Given the description of an element on the screen output the (x, y) to click on. 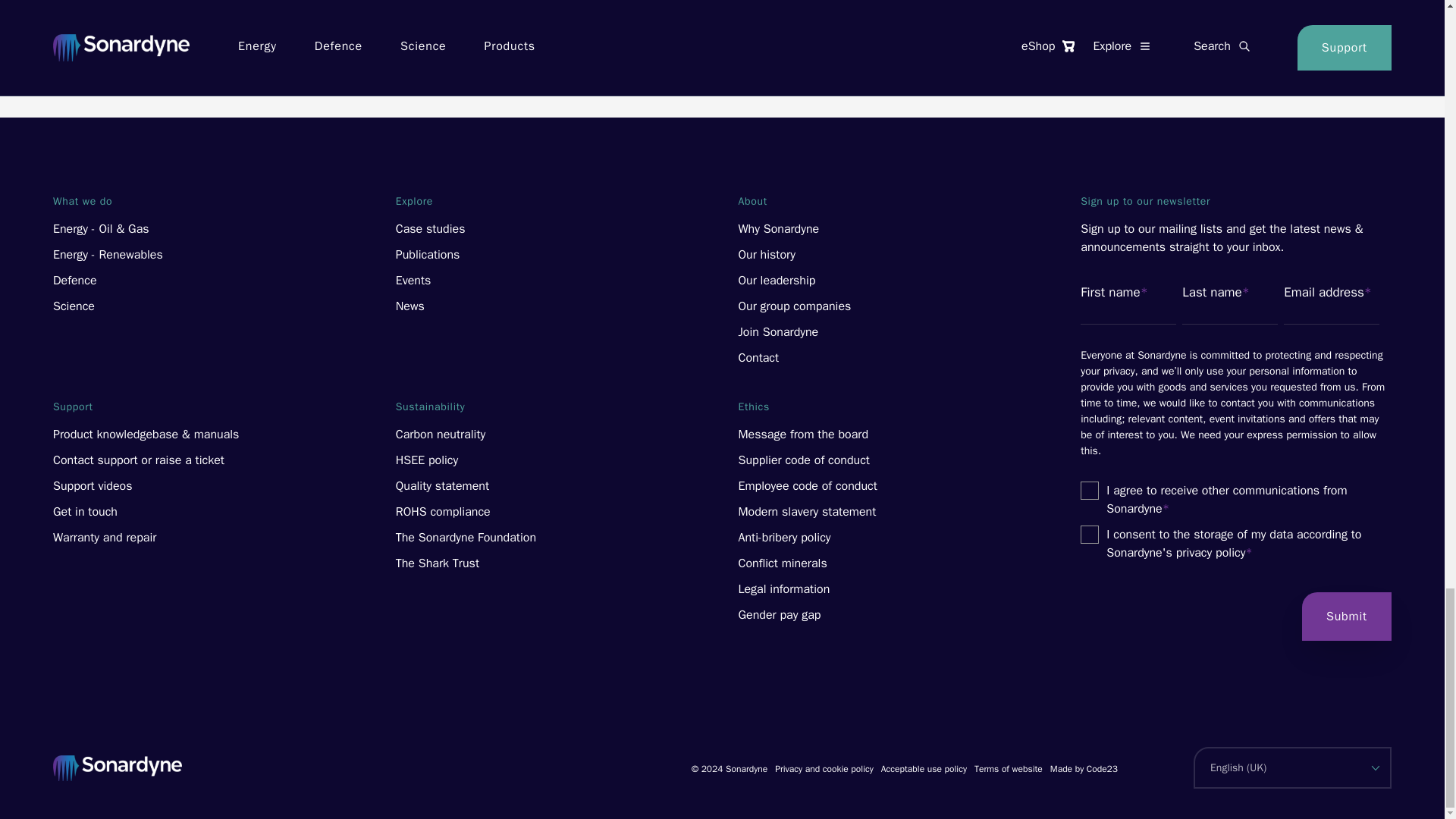
Submit (1346, 616)
true (1089, 490)
true (1089, 534)
